Given the description of an element on the screen output the (x, y) to click on. 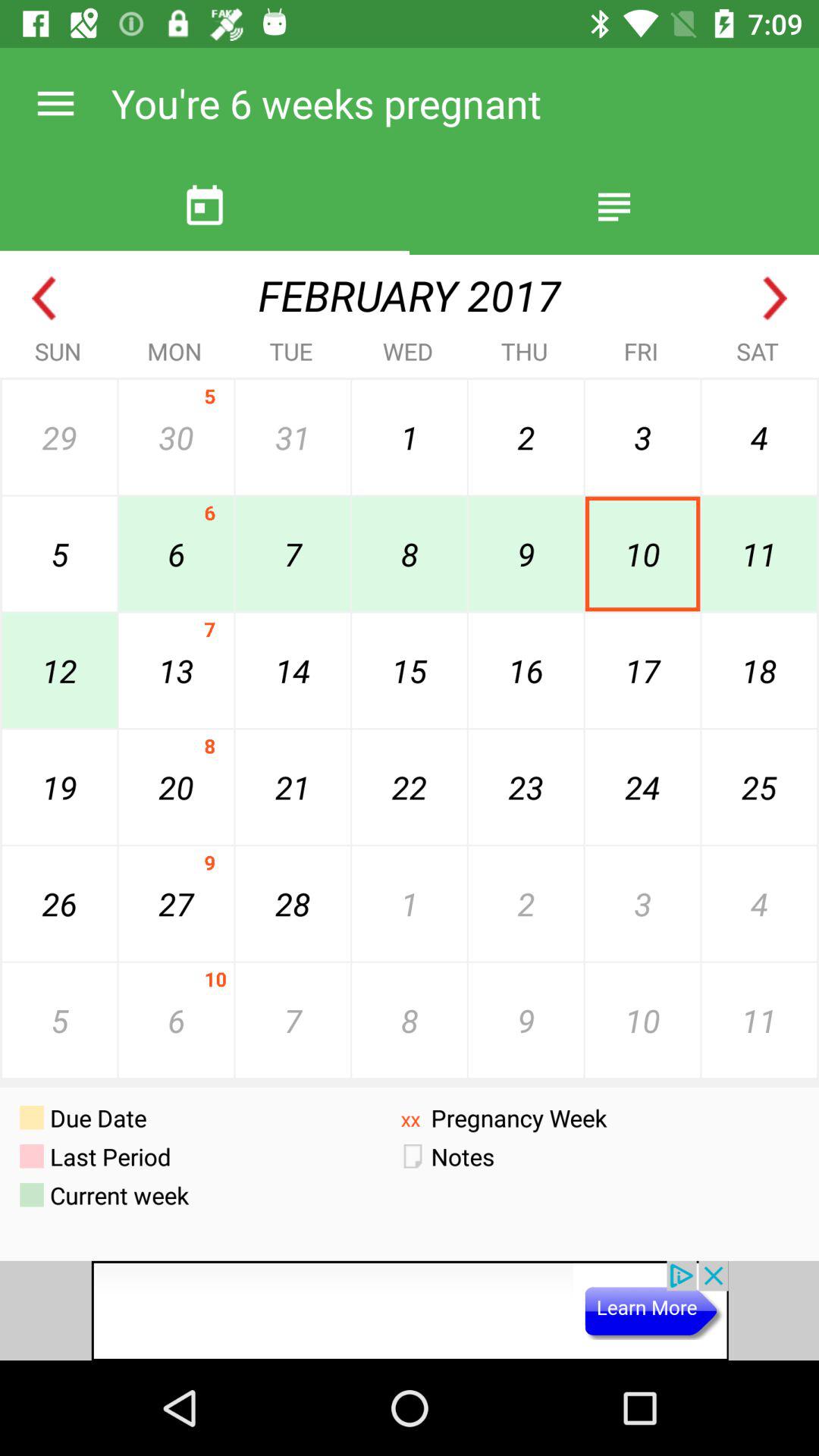
go to previous month (43, 298)
